Given the description of an element on the screen output the (x, y) to click on. 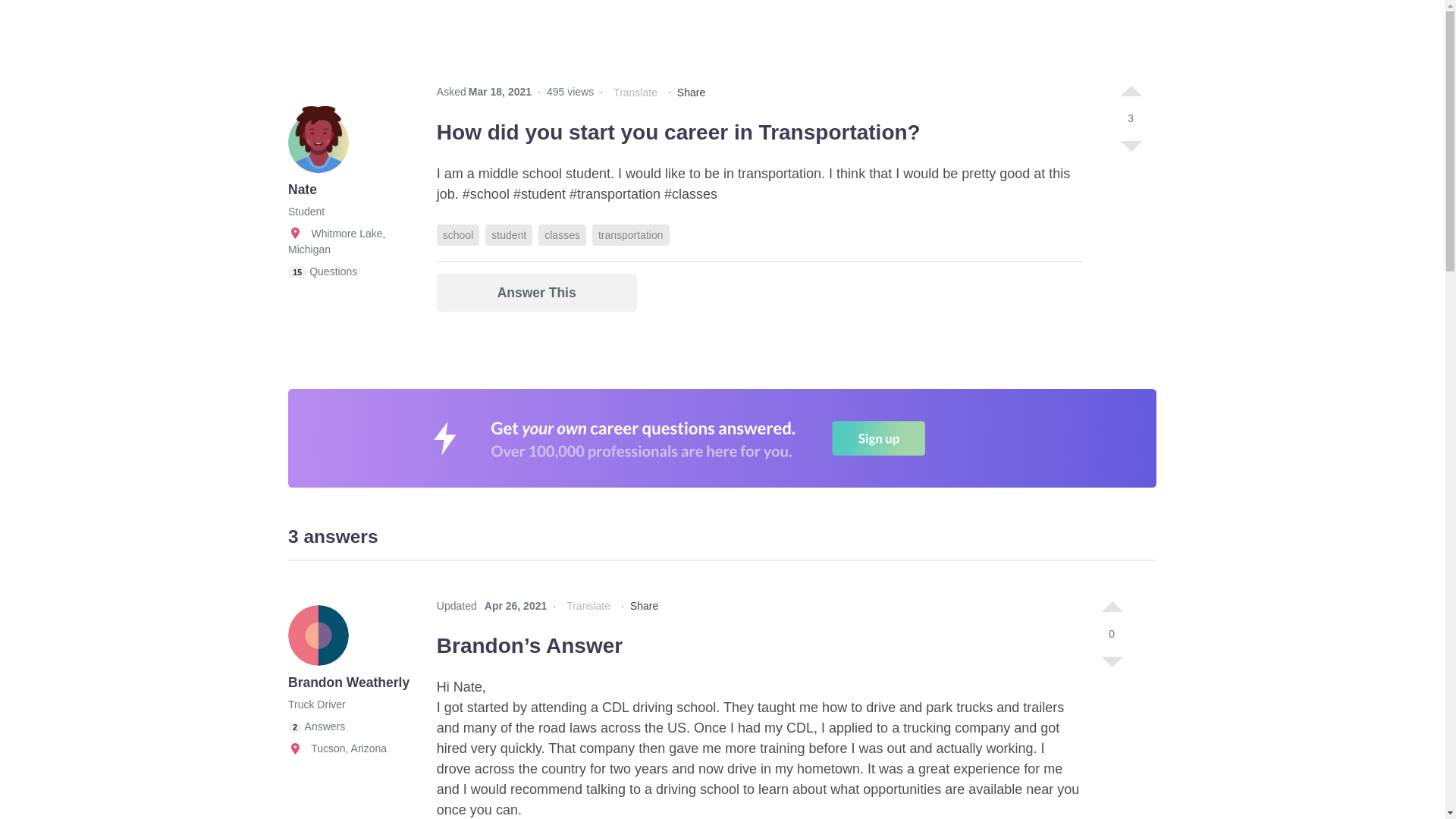
transportation (630, 234)
Answer This (536, 292)
student (508, 234)
school (457, 234)
Translate (635, 92)
Share (690, 92)
classes (562, 234)
